Given the description of an element on the screen output the (x, y) to click on. 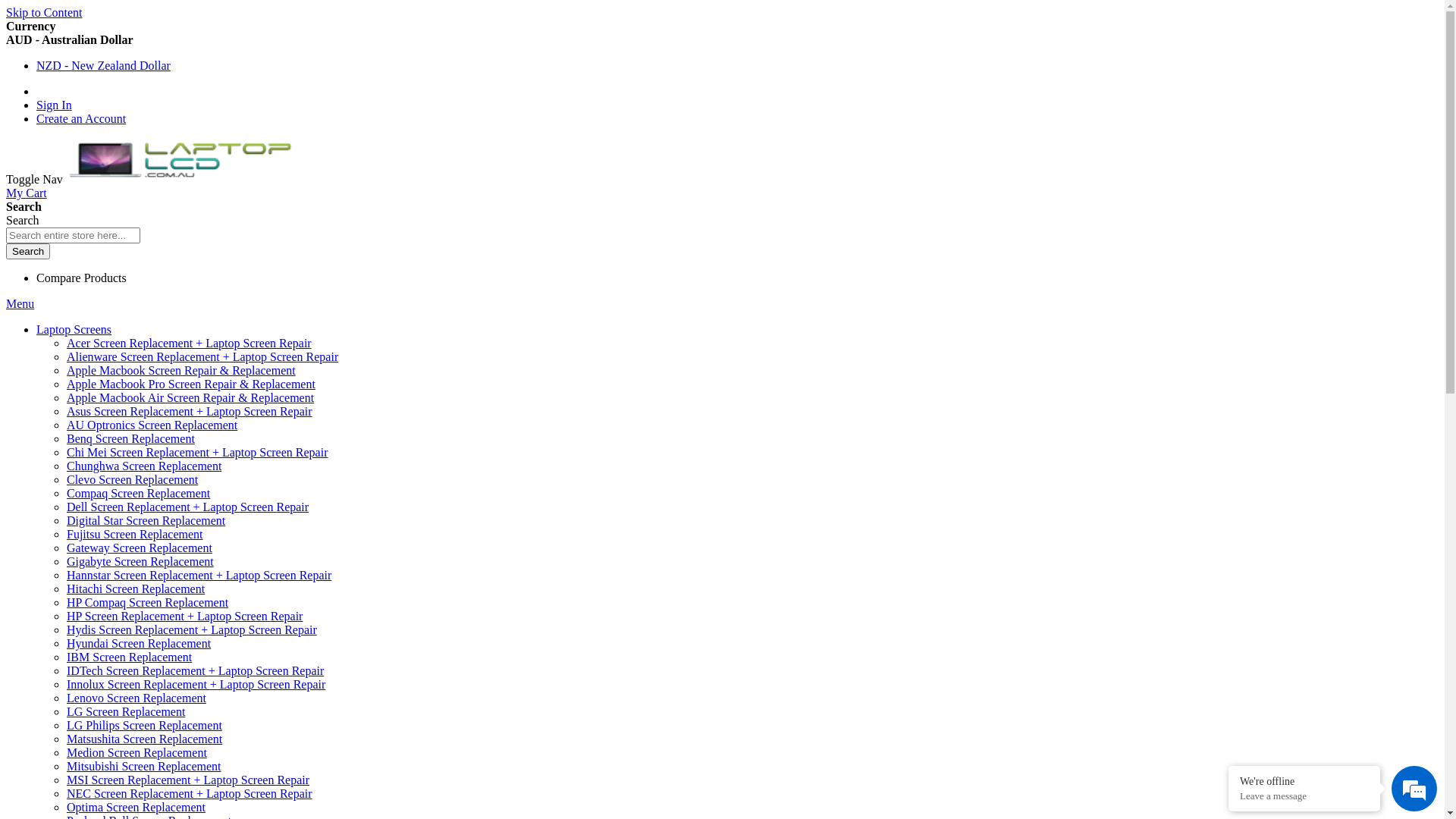
Apple Macbook Air Screen Repair & Replacement Element type: text (189, 397)
Skip to Content Element type: text (43, 12)
Search Element type: text (28, 251)
IBM Screen Replacement Element type: text (128, 656)
Hitachi Screen Replacement Element type: text (135, 588)
IDTech Screen Replacement + Laptop Screen Repair Element type: text (194, 670)
NZD - New Zealand Dollar Element type: text (103, 65)
HP Compaq Screen Replacement Element type: text (147, 602)
Benq Screen Replacement Element type: text (130, 438)
Gigabyte Screen Replacement Element type: text (139, 561)
LG Philips Screen Replacement Element type: text (144, 724)
Matsushita Screen Replacement Element type: text (144, 738)
Digital Star Screen Replacement Element type: text (145, 520)
Dell Screen Replacement + Laptop Screen Repair Element type: text (187, 506)
MSI Screen Replacement + Laptop Screen Repair Element type: text (187, 779)
NEC Screen Replacement + Laptop Screen Repair Element type: text (189, 793)
Acer Screen Replacement + Laptop Screen Repair Element type: text (188, 342)
AU Optronics Screen Replacement Element type: text (151, 424)
Clevo Screen Replacement Element type: text (131, 479)
Hyundai Screen Replacement Element type: text (138, 643)
Menu Element type: text (20, 303)
Hannstar Screen Replacement + Laptop Screen Repair Element type: text (198, 574)
Compaq Screen Replacement Element type: text (138, 492)
Apple Macbook Pro Screen Repair & Replacement Element type: text (190, 383)
Mitsubishi Screen Replacement Element type: text (143, 765)
HP Screen Replacement + Laptop Screen Repair Element type: text (184, 615)
Compare Products Element type: text (81, 277)
Create an Account Element type: text (80, 118)
Hydis Screen Replacement + Laptop Screen Repair Element type: text (191, 629)
My Cart Element type: text (26, 192)
Asus Screen Replacement + Laptop Screen Repair Element type: text (189, 410)
Fujitsu Screen Replacement Element type: text (134, 533)
Innolux Screen Replacement + Laptop Screen Repair Element type: text (195, 683)
Apple Macbook Screen Repair & Replacement Element type: text (180, 370)
Laptop Screens Element type: text (73, 329)
Gateway Screen Replacement Element type: text (139, 547)
Lenovo Screen Replacement Element type: text (136, 697)
Sign In Element type: text (54, 104)
Laptop Screens Australia Element type: hover (179, 178)
LG Screen Replacement Element type: text (125, 711)
Chunghwa Screen Replacement Element type: text (143, 465)
Optima Screen Replacement Element type: text (135, 806)
Laptop Screens Australia Element type: hover (179, 160)
Chi Mei Screen Replacement + Laptop Screen Repair Element type: text (196, 451)
Alienware Screen Replacement + Laptop Screen Repair Element type: text (202, 356)
Medion Screen Replacement Element type: text (136, 752)
